Given the description of an element on the screen output the (x, y) to click on. 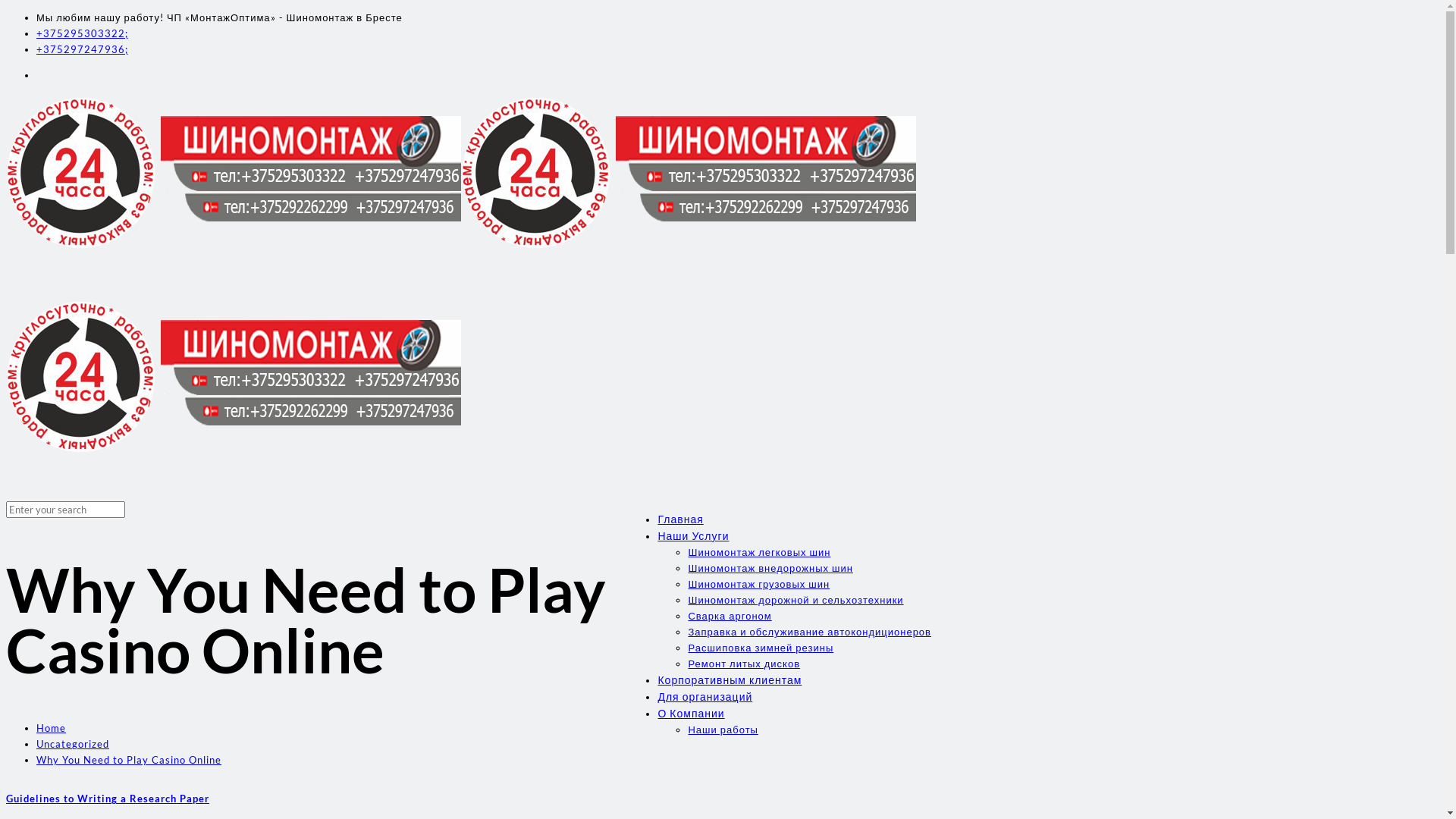
Home Element type: text (50, 727)
Uncategorized Element type: text (72, 743)
Why You Need to Play Casino Online Element type: text (128, 759)
+375297247936; Element type: text (82, 49)
+375295303322; Element type: text (82, 33)
